Given the description of an element on the screen output the (x, y) to click on. 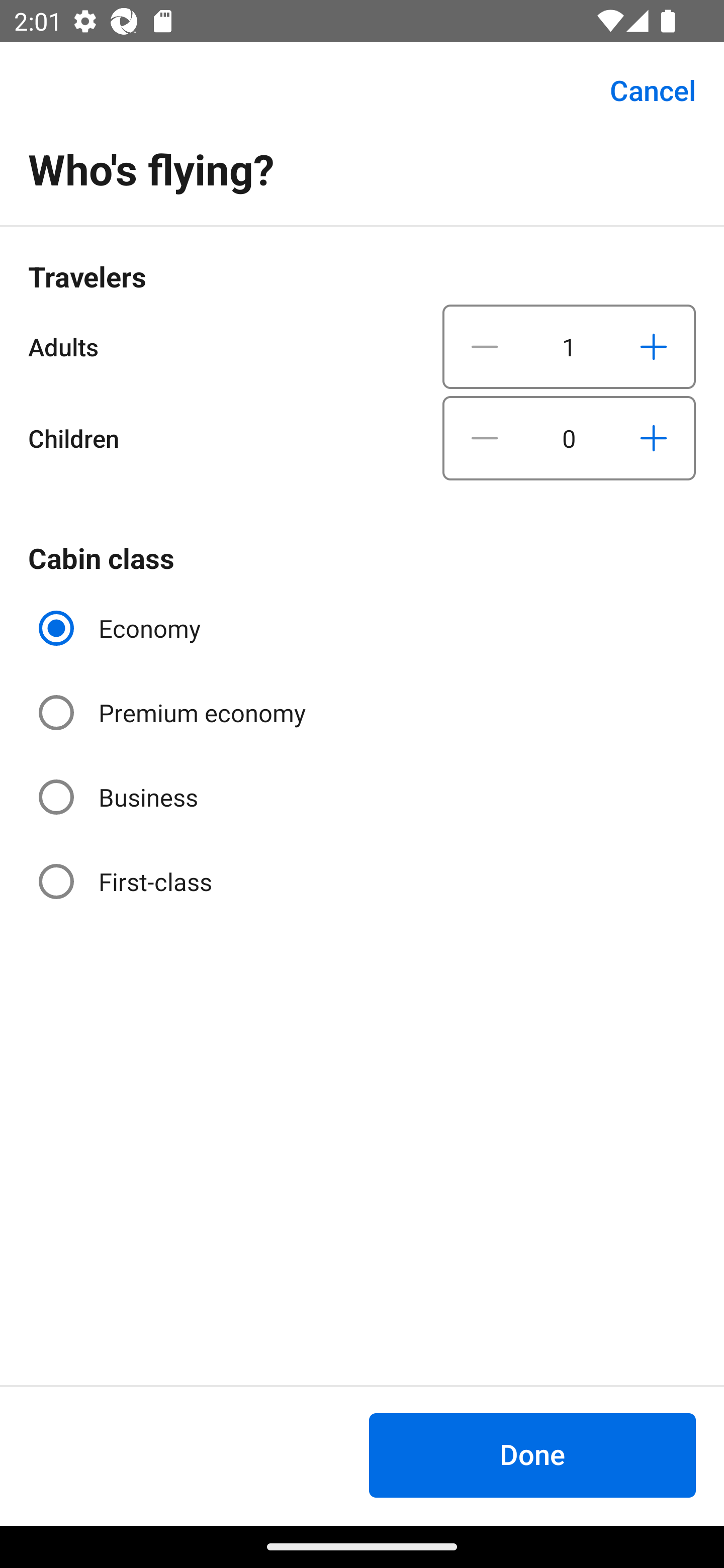
Cancel (641, 90)
Decrease (484, 346)
Increase (653, 346)
Decrease (484, 437)
Increase (653, 437)
Economy (121, 628)
Premium economy (174, 712)
Business (120, 796)
First-class (126, 880)
Done (532, 1454)
